Given the description of an element on the screen output the (x, y) to click on. 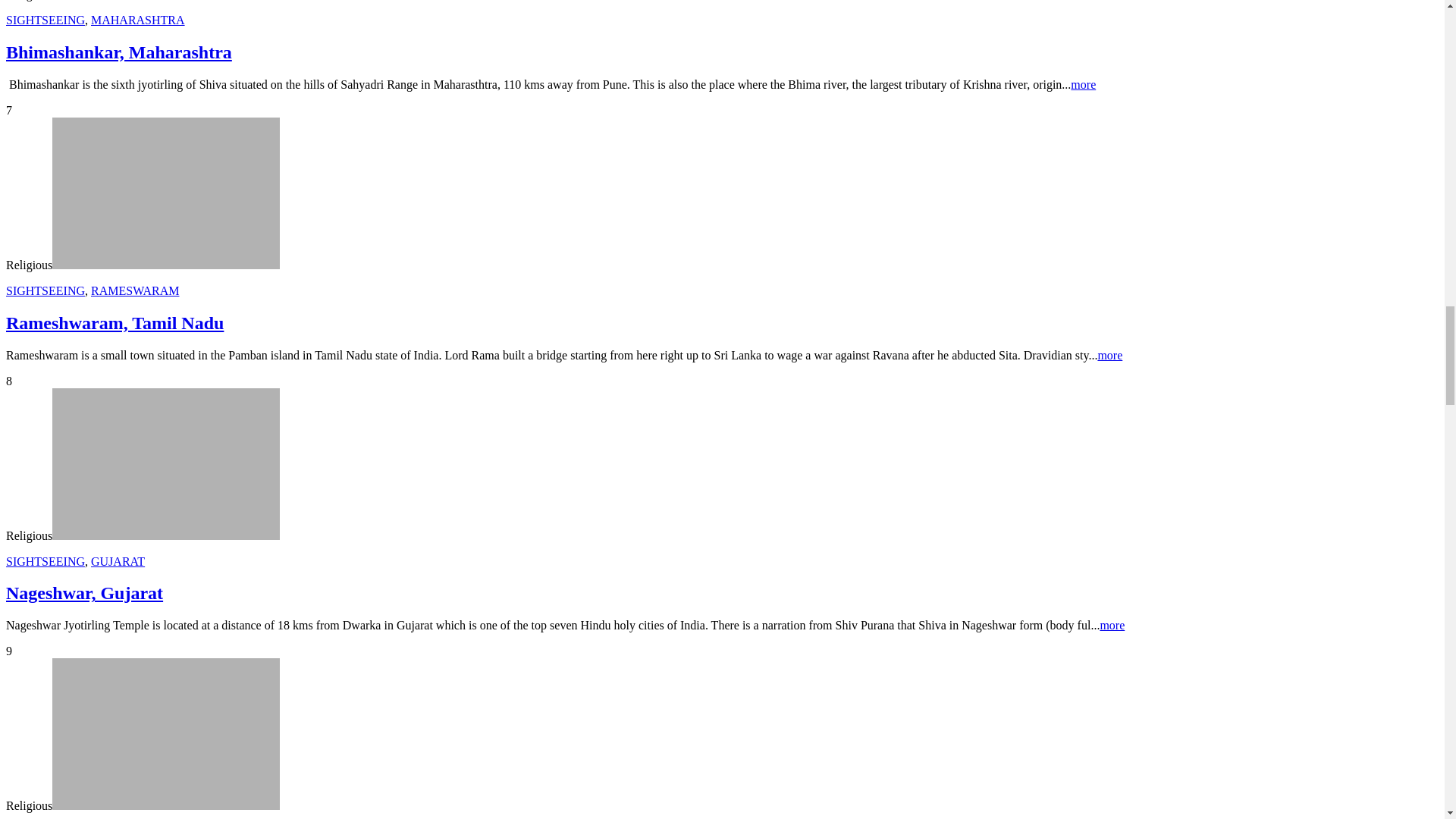
Kashi Vishwanath Temple (165, 733)
Rameshwaram, Tamil Nadu (165, 193)
Nageshwar, Gujarat (165, 463)
